Given the description of an element on the screen output the (x, y) to click on. 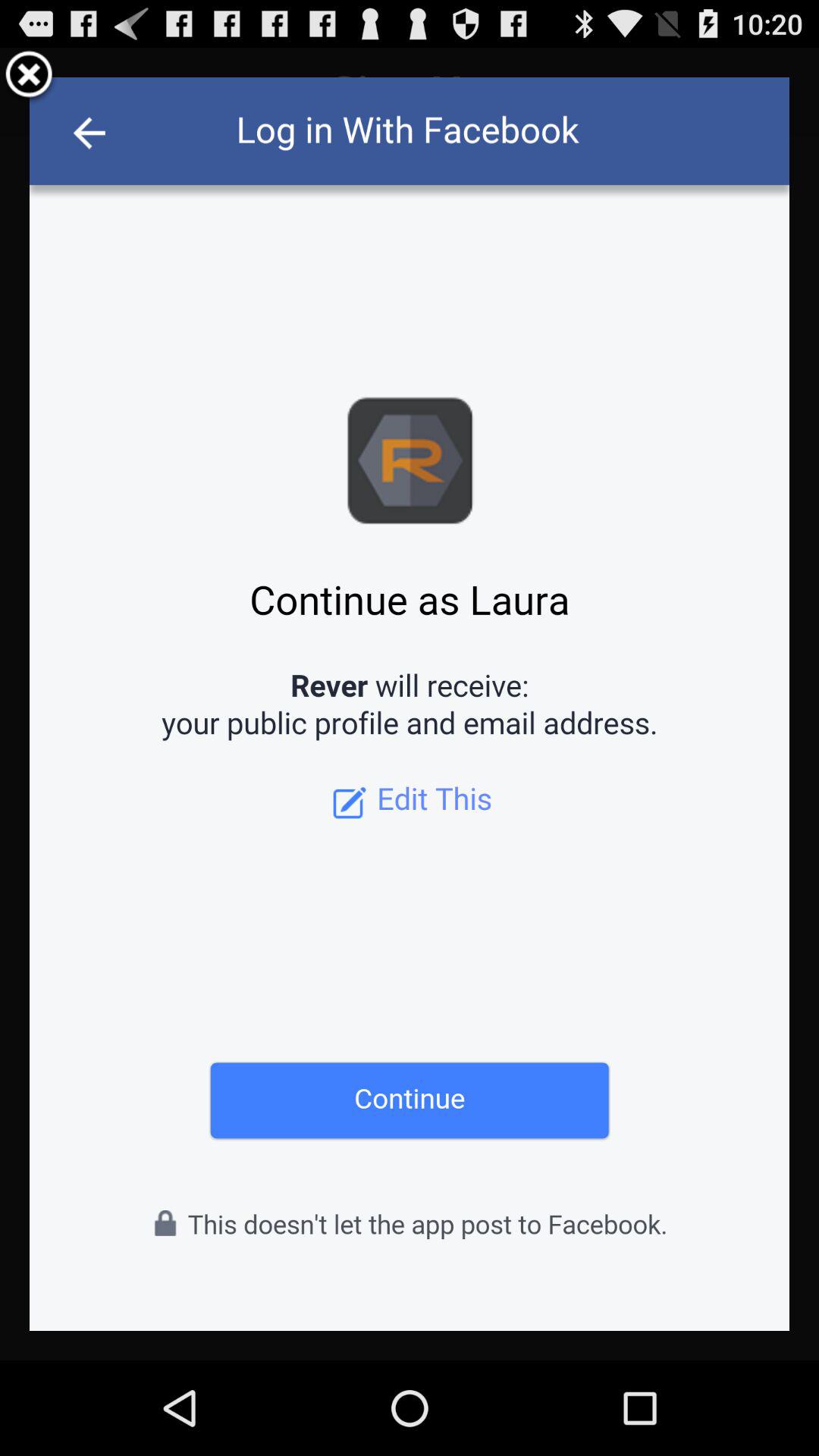
x (29, 76)
